Given the description of an element on the screen output the (x, y) to click on. 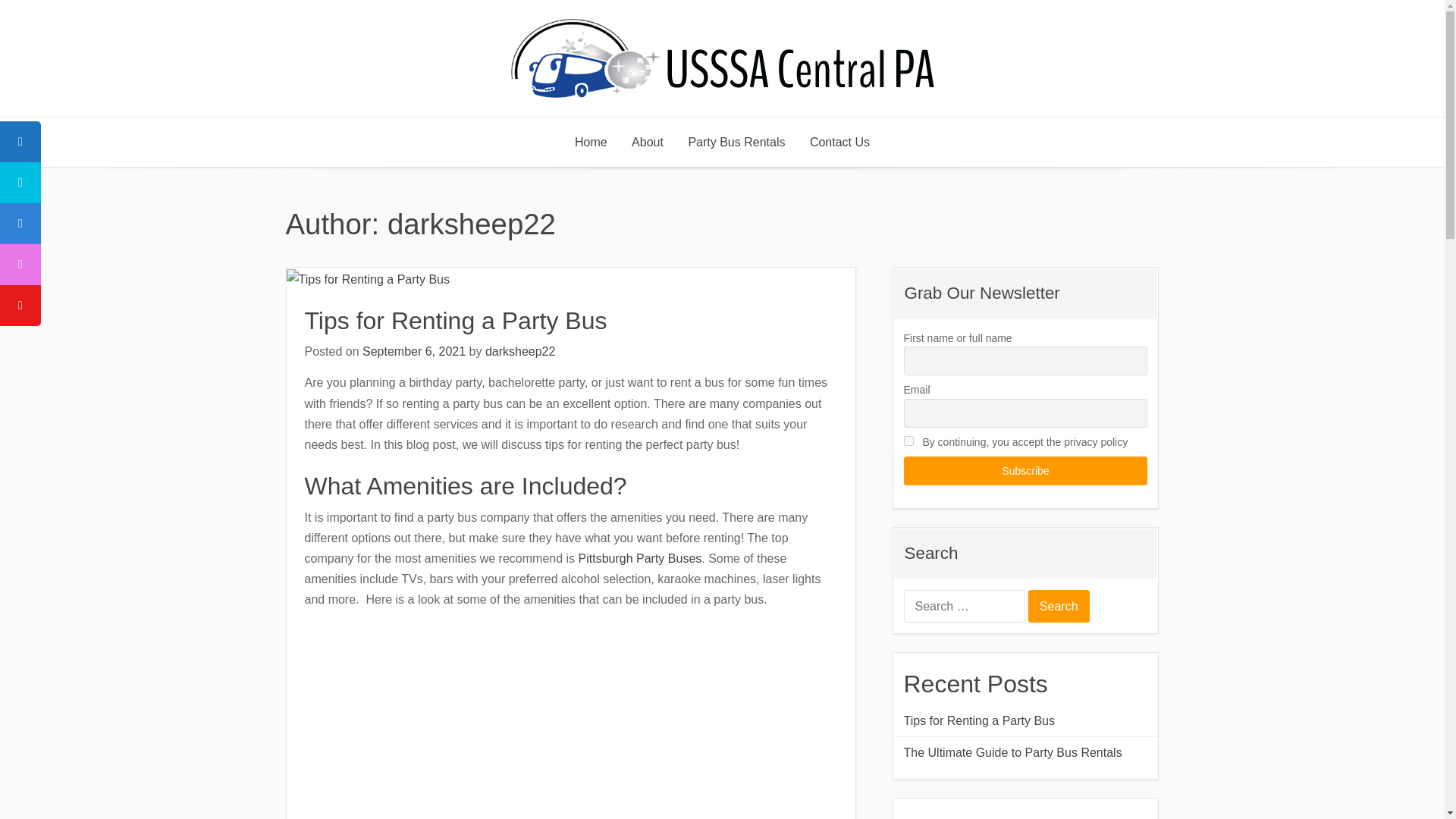
Tips for Renting a Party Bus (1026, 720)
Search (1058, 605)
YouTube video player (516, 719)
Pittsburgh Party Buses (639, 558)
Contact Us (839, 142)
darksheep22 (520, 350)
Search (1058, 605)
Party Bus Rentals (735, 142)
Search (1058, 605)
Tips for Renting a Party Bus (455, 320)
The Ultimate Guide to Party Bus Rentals (1026, 752)
Subscribe (1026, 470)
About (647, 142)
September 6, 2021 (413, 350)
Subscribe (1026, 470)
